Given the description of an element on the screen output the (x, y) to click on. 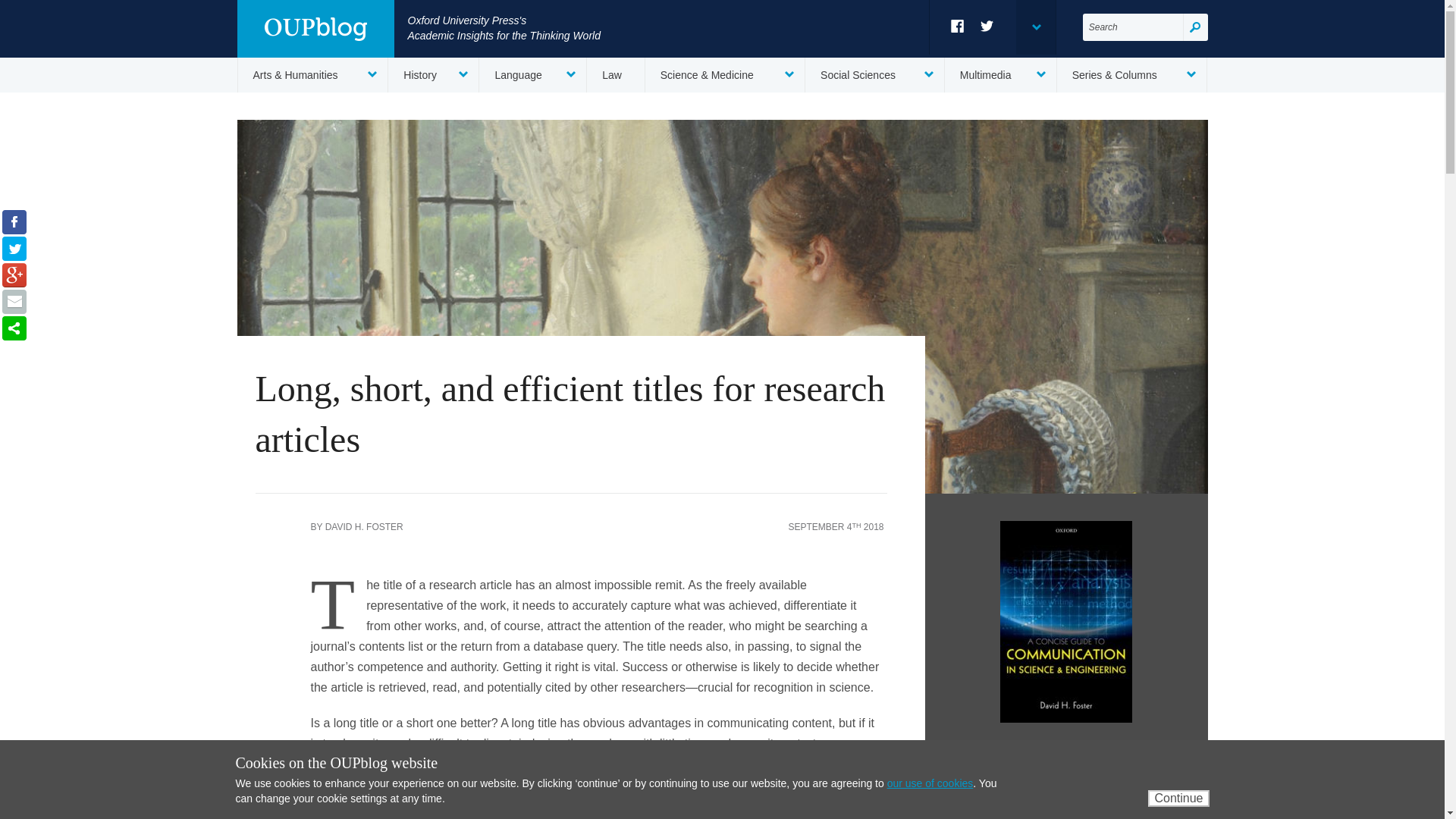
Search (1195, 26)
Continue (1178, 798)
Facebook (957, 25)
Language (532, 74)
Search for: (1132, 26)
Twitter (986, 25)
History (433, 74)
our use of cookies (930, 783)
